Given the description of an element on the screen output the (x, y) to click on. 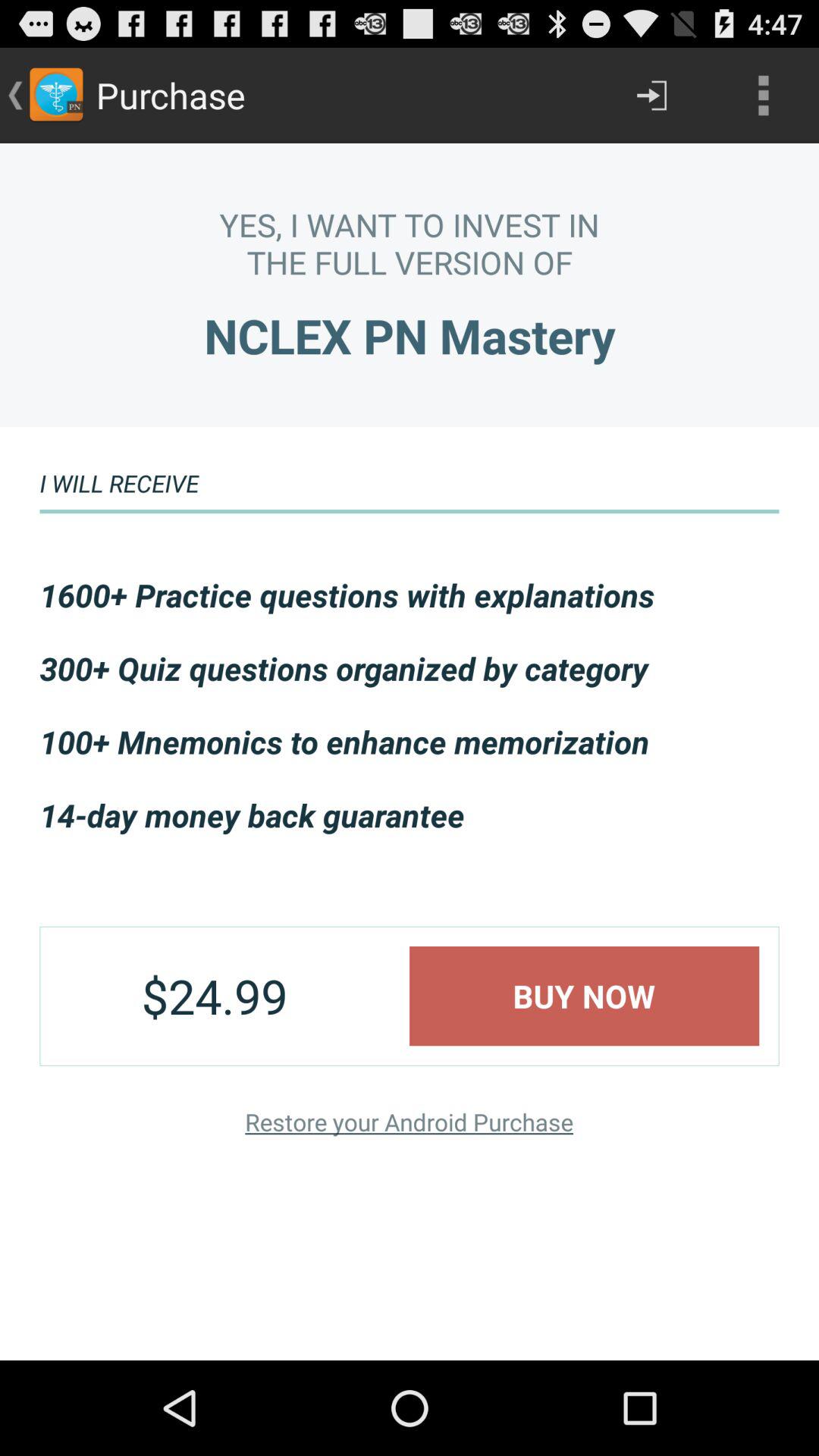
press restore your android app (409, 1121)
